Given the description of an element on the screen output the (x, y) to click on. 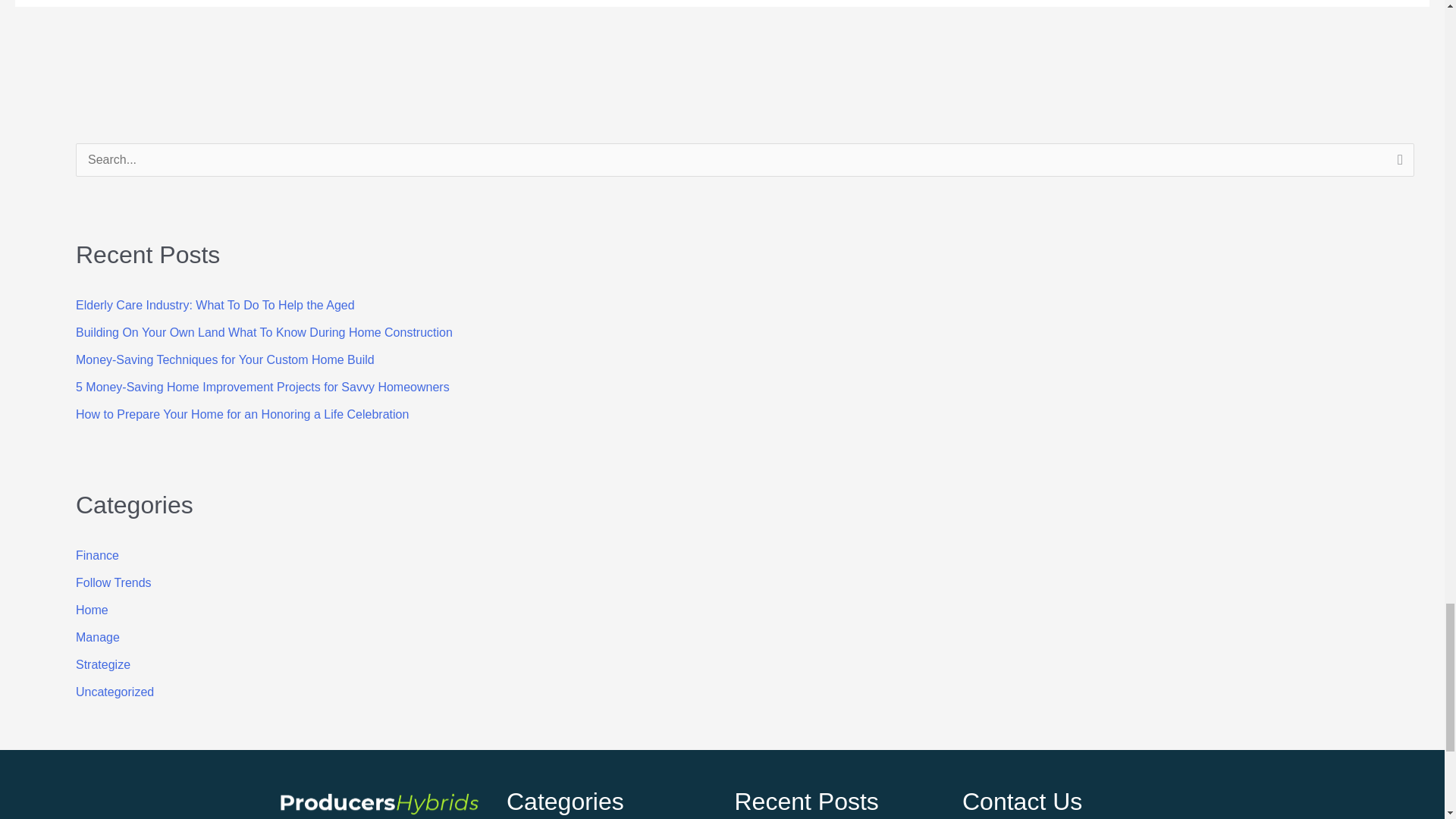
Elderly Care Industry: What To Do To Help the Aged (215, 305)
